Given the description of an element on the screen output the (x, y) to click on. 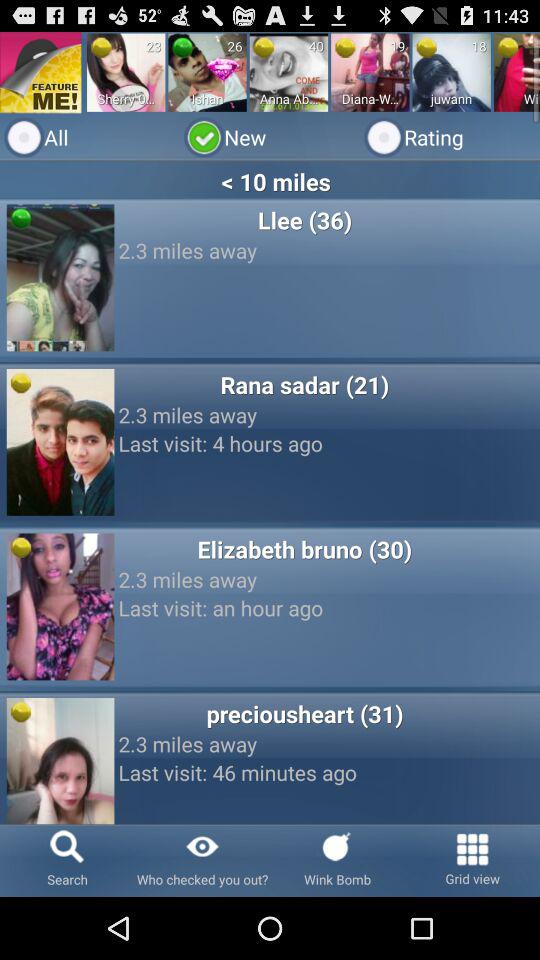
turn off the item to the left of the 18 app (426, 47)
